Given the description of an element on the screen output the (x, y) to click on. 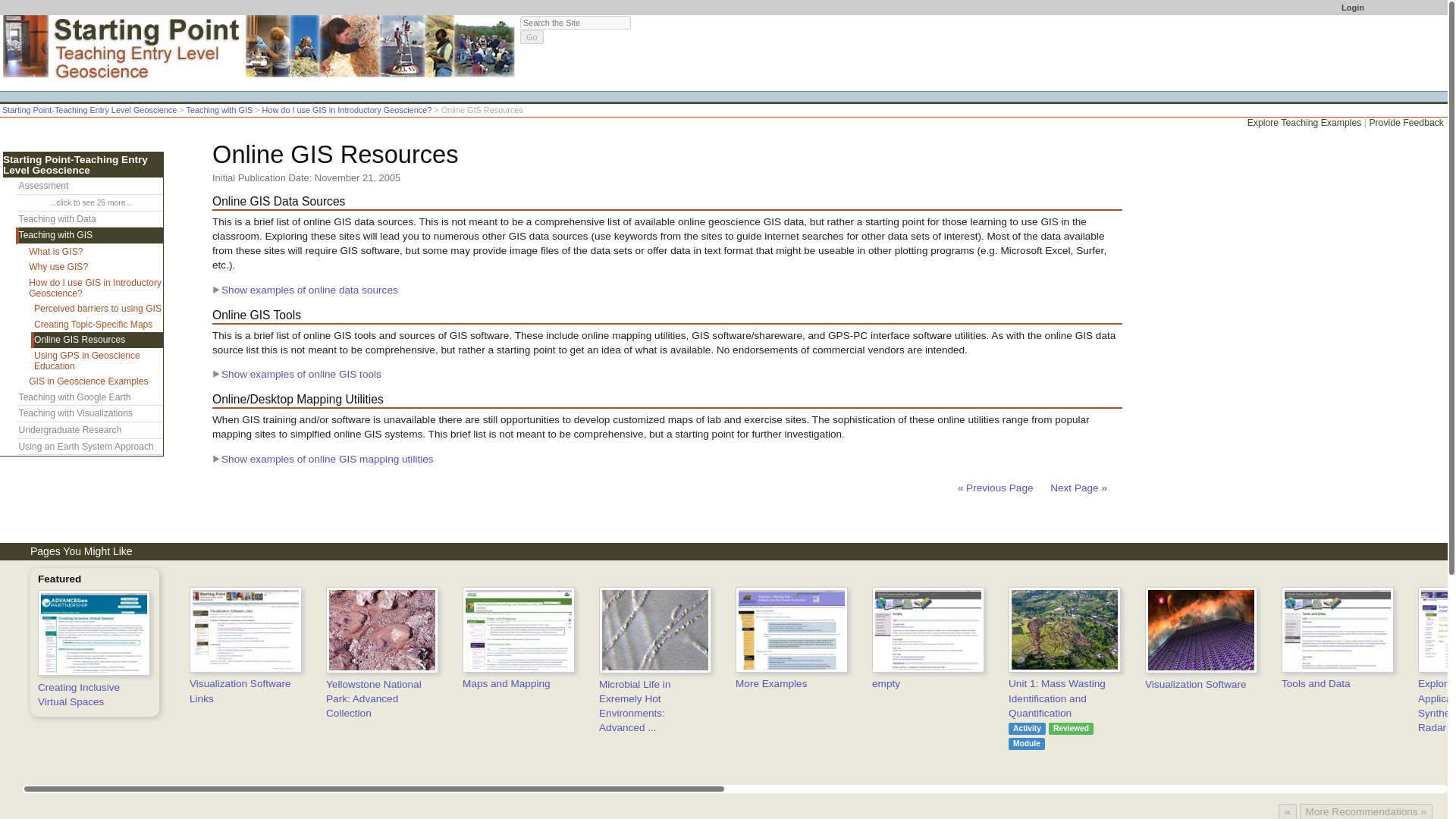
Teaching with GIS (219, 109)
Go (531, 37)
Go (531, 37)
Show examples of online data sources (304, 289)
How do I use GIS in Introductory Geoscience? (347, 109)
Starting Point-Teaching Entry Level Geoscience (89, 109)
Provide Feedback (1406, 122)
Explore Teaching Examples (1304, 122)
